Given the description of an element on the screen output the (x, y) to click on. 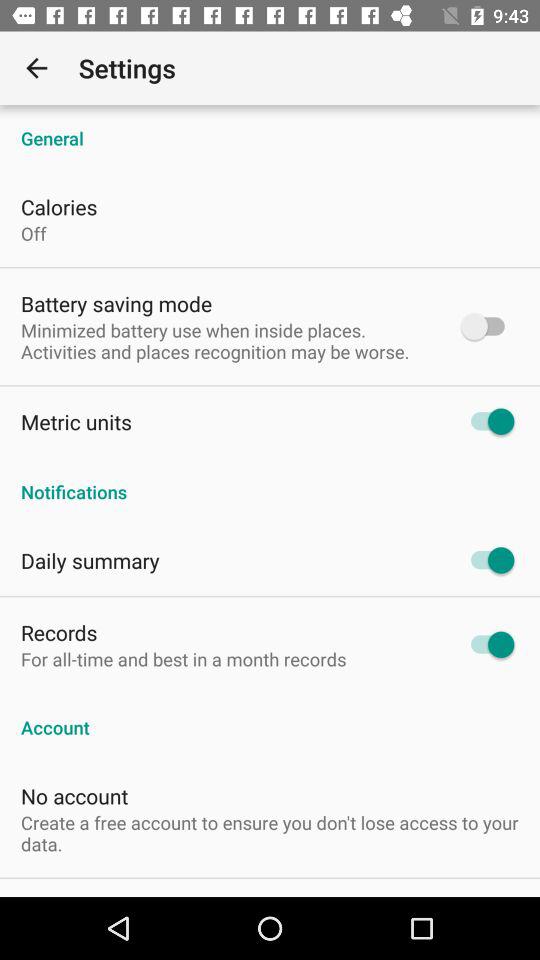
click the notifications item (270, 481)
